Given the description of an element on the screen output the (x, y) to click on. 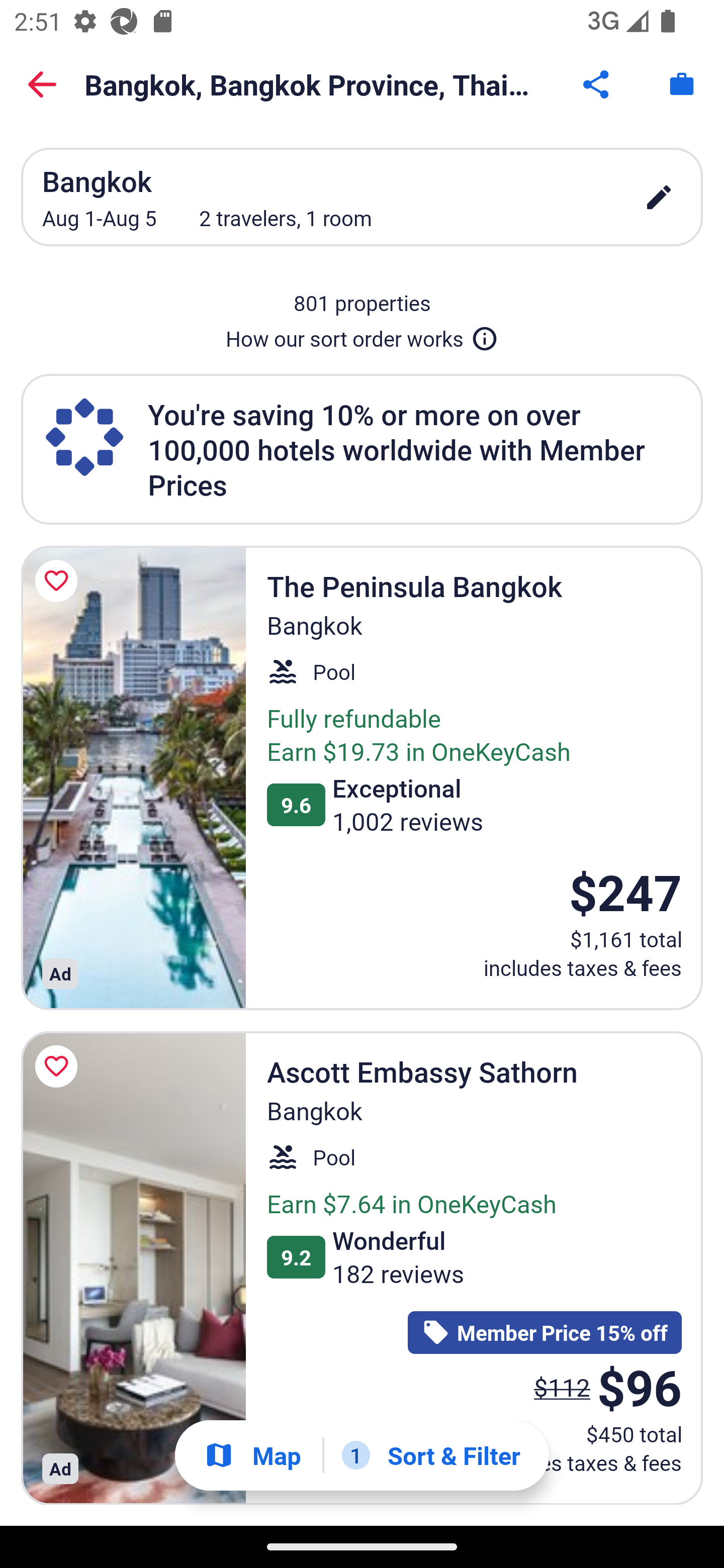
Back (42, 84)
Share Button (597, 84)
Trips. Button (681, 84)
Bangkok Aug 1-Aug 5 2 travelers, 1 room edit (361, 196)
How our sort order works (361, 334)
Save The Peninsula Bangkok to a trip (59, 580)
The Peninsula Bangkok (133, 777)
Save Ascott Embassy Sathorn to a trip (59, 1065)
Ascott Embassy Sathorn (133, 1268)
$112 The price was $112 (561, 1387)
1 Sort & Filter 1 Filter applied. Filters Button (430, 1455)
Show map Map Show map Button (252, 1455)
